Given the description of an element on the screen output the (x, y) to click on. 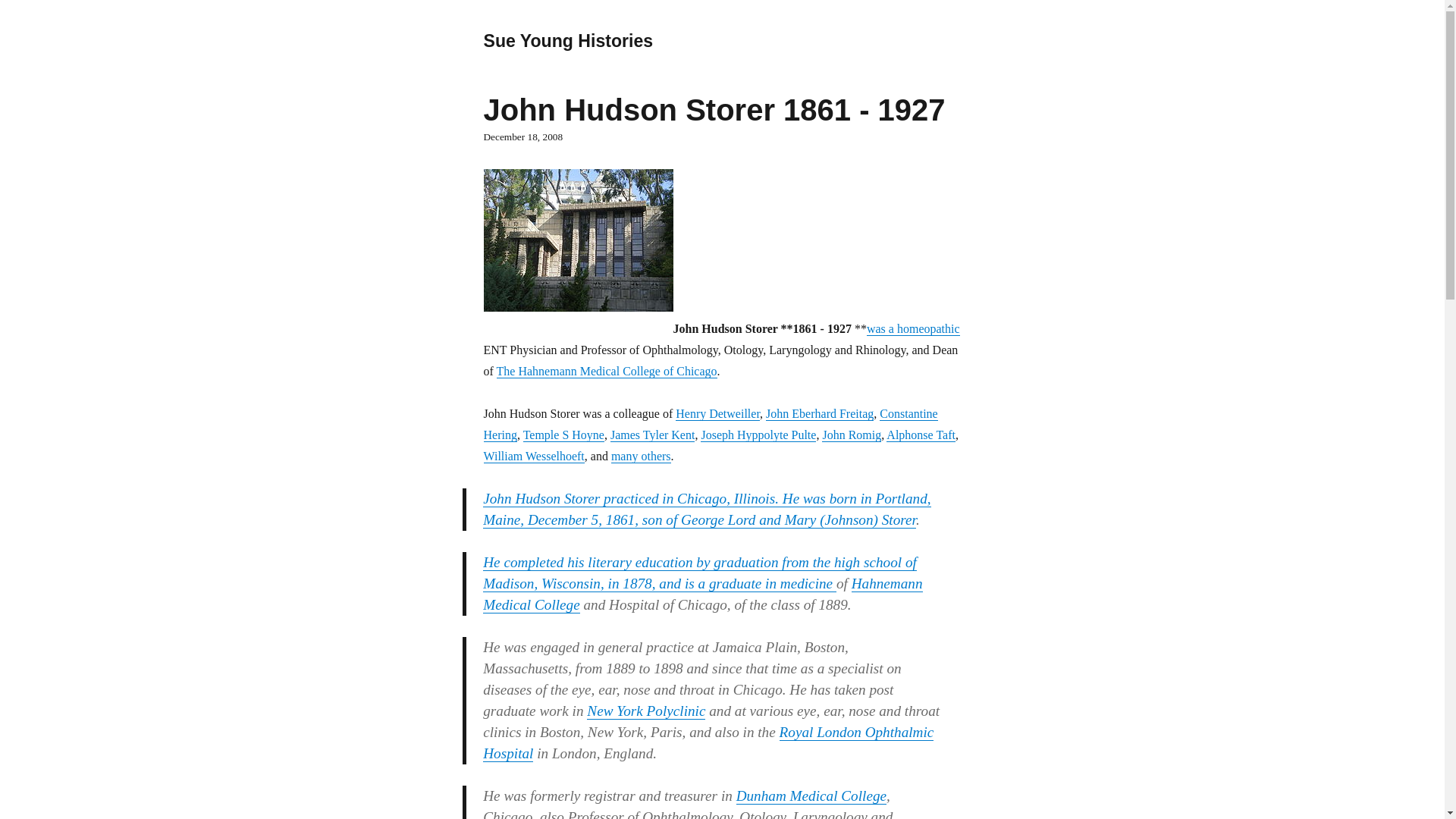
Dunham Medical College (811, 795)
Temple S Hoyne (563, 434)
James Tyler Kent (652, 434)
Hahnemann Medical College (702, 593)
New York Polyclinic (645, 710)
John Eberhard Freitag (819, 413)
Royal London Ophthalmic Hospital (708, 742)
William Wesselhoeft (534, 455)
Sue Young Histories (568, 40)
The Hahnemann Medical College of Chicago (606, 370)
